Given the description of an element on the screen output the (x, y) to click on. 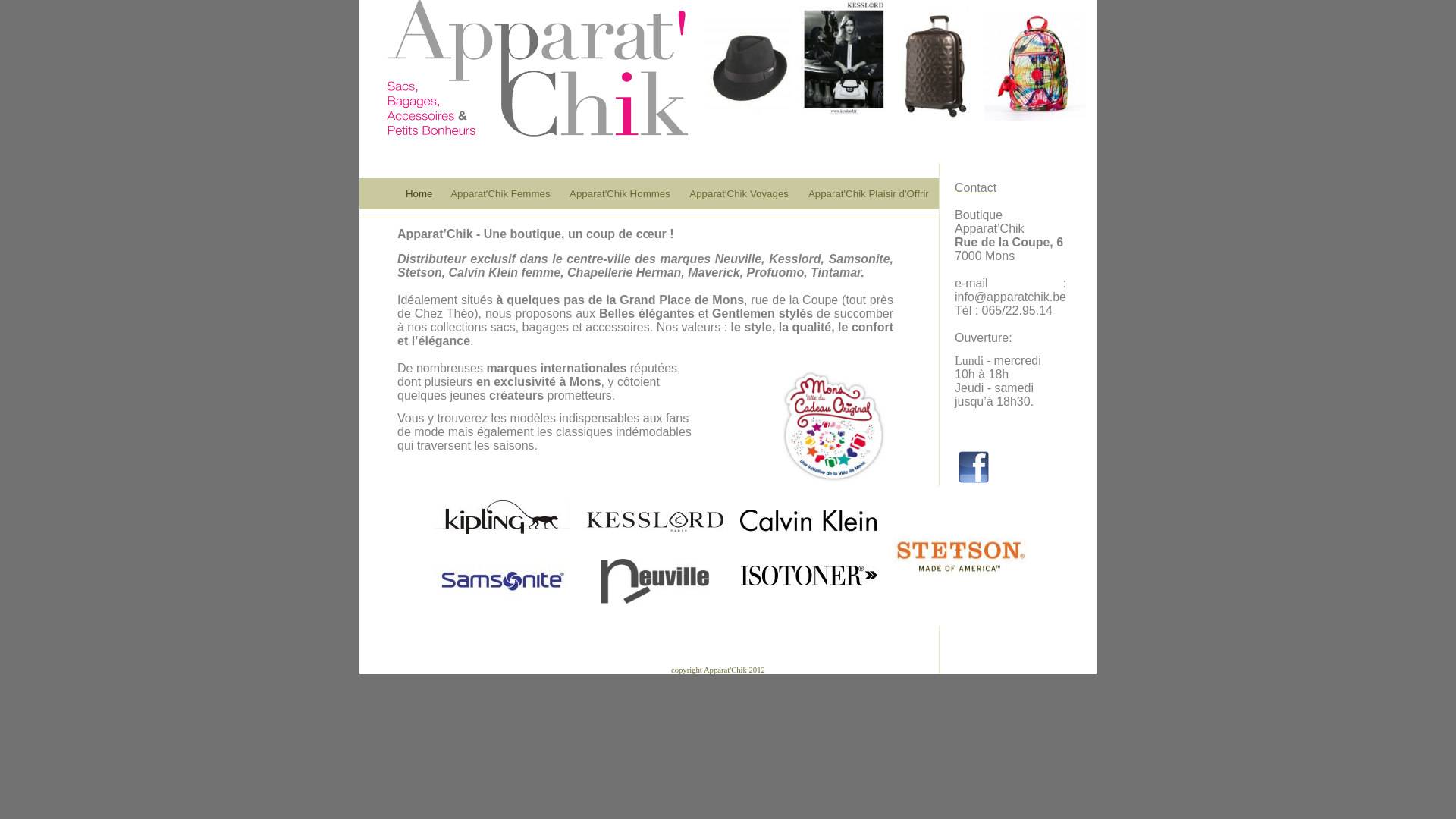
Home Element type: text (419, 193)
Apparat'Chik Femmes Element type: text (499, 193)
Apparat'Chik Hommes Element type: text (619, 193)
Apparat'Chik Voyages Element type: text (738, 193)
Apparat'Chik Plaisir d'Offrir Element type: text (868, 193)
